Given the description of an element on the screen output the (x, y) to click on. 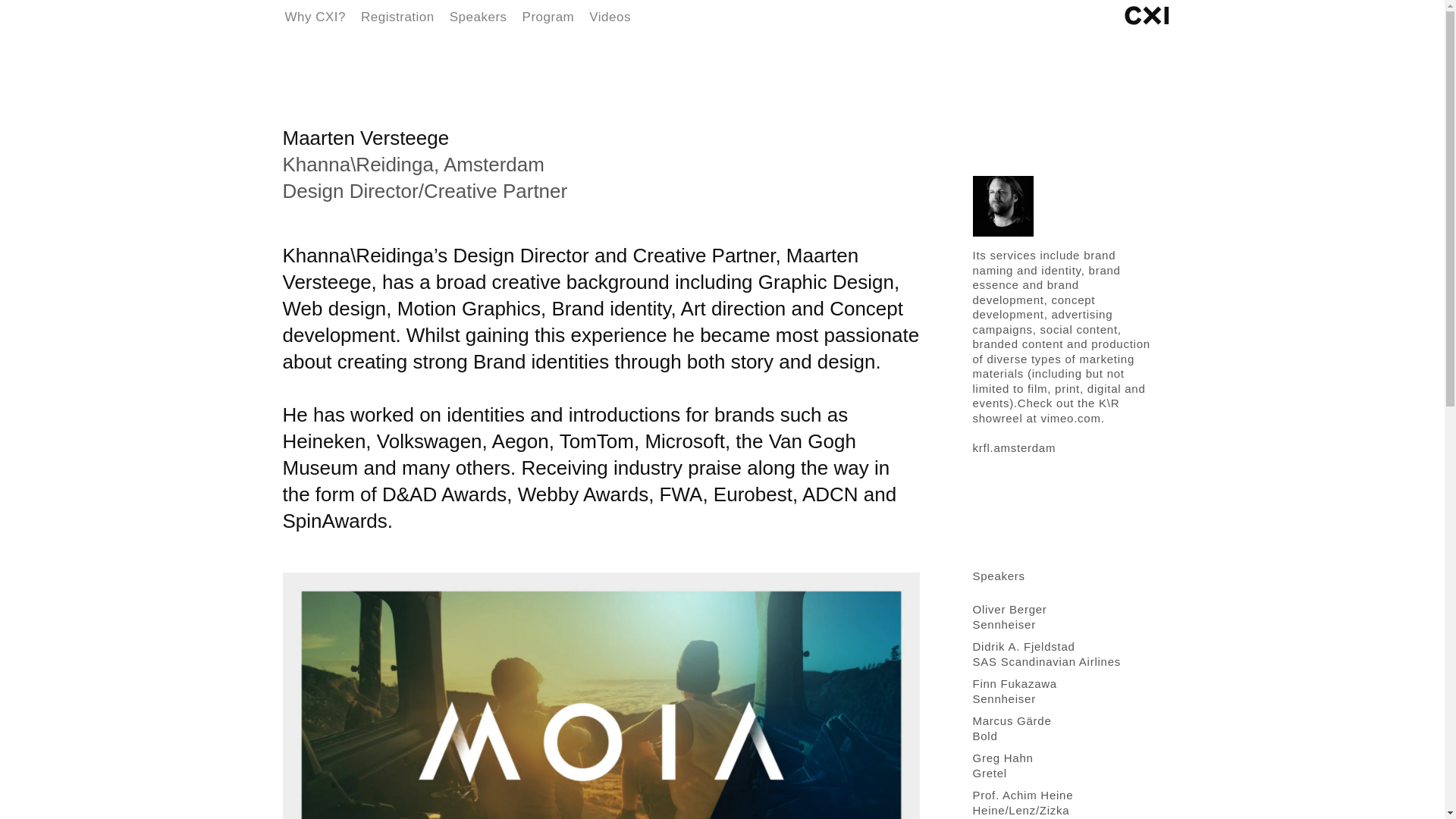
Speakers (477, 16)
Program (548, 16)
Registration (397, 16)
Videos (609, 16)
Why CXI? (315, 16)
